Given the description of an element on the screen output the (x, y) to click on. 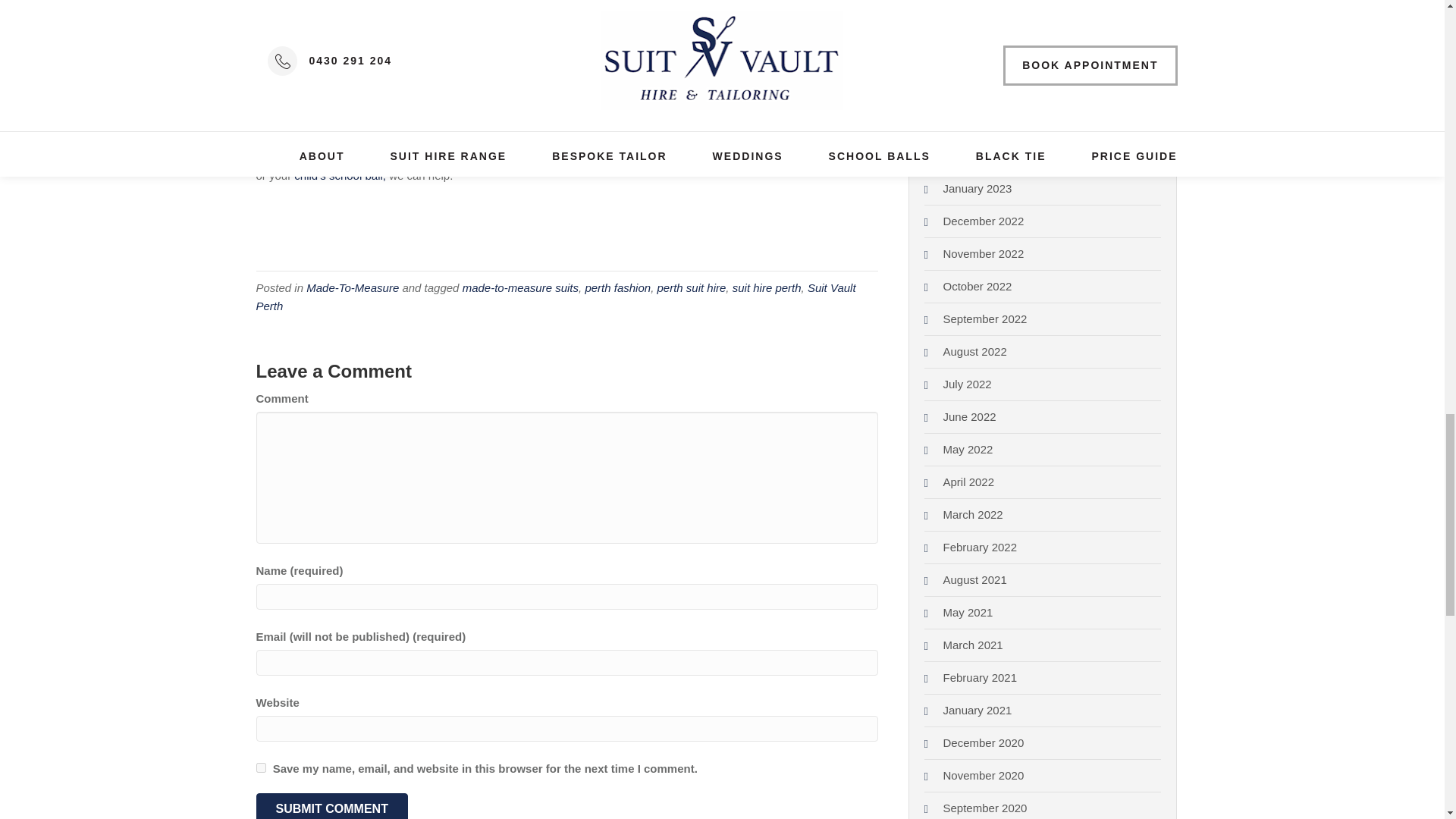
Suit Vault Perth (556, 296)
wedding (772, 156)
made-to-measure suits (520, 287)
suit hire range (805, 138)
Submit Comment (331, 806)
suit hire perth (767, 287)
perth suit hire (690, 287)
perth fashion (617, 287)
yes (261, 767)
price guide here (315, 156)
Submit Comment (331, 806)
black tie (820, 156)
Made-To-Measure (351, 287)
